Given the description of an element on the screen output the (x, y) to click on. 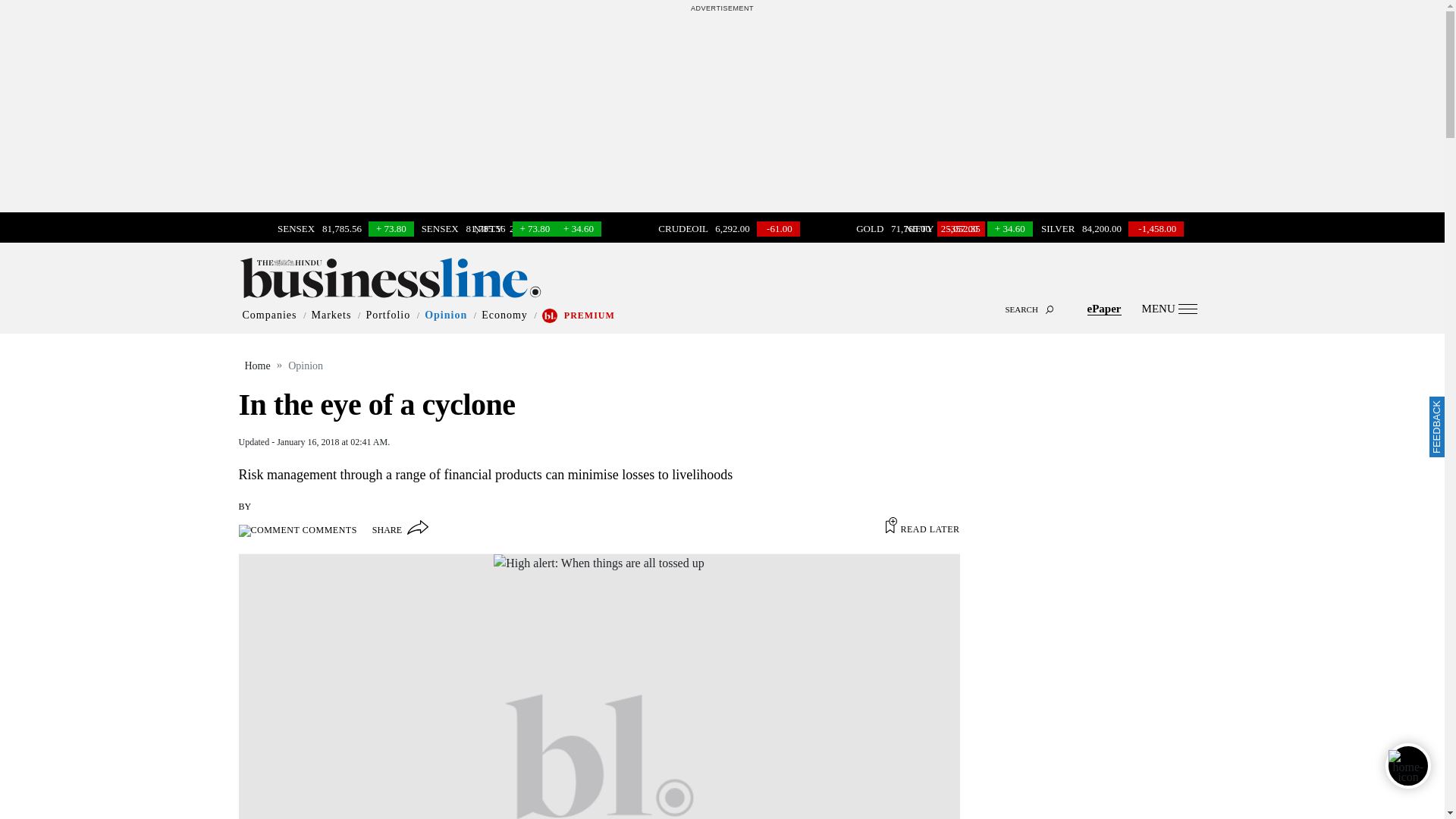
PREMIUM (589, 315)
Opinion (446, 315)
Economy (504, 315)
SEARCH (721, 295)
ePaper (1104, 308)
MENU (1168, 308)
Markets (330, 315)
Portfolio (387, 315)
Companies (270, 315)
